Given the description of an element on the screen output the (x, y) to click on. 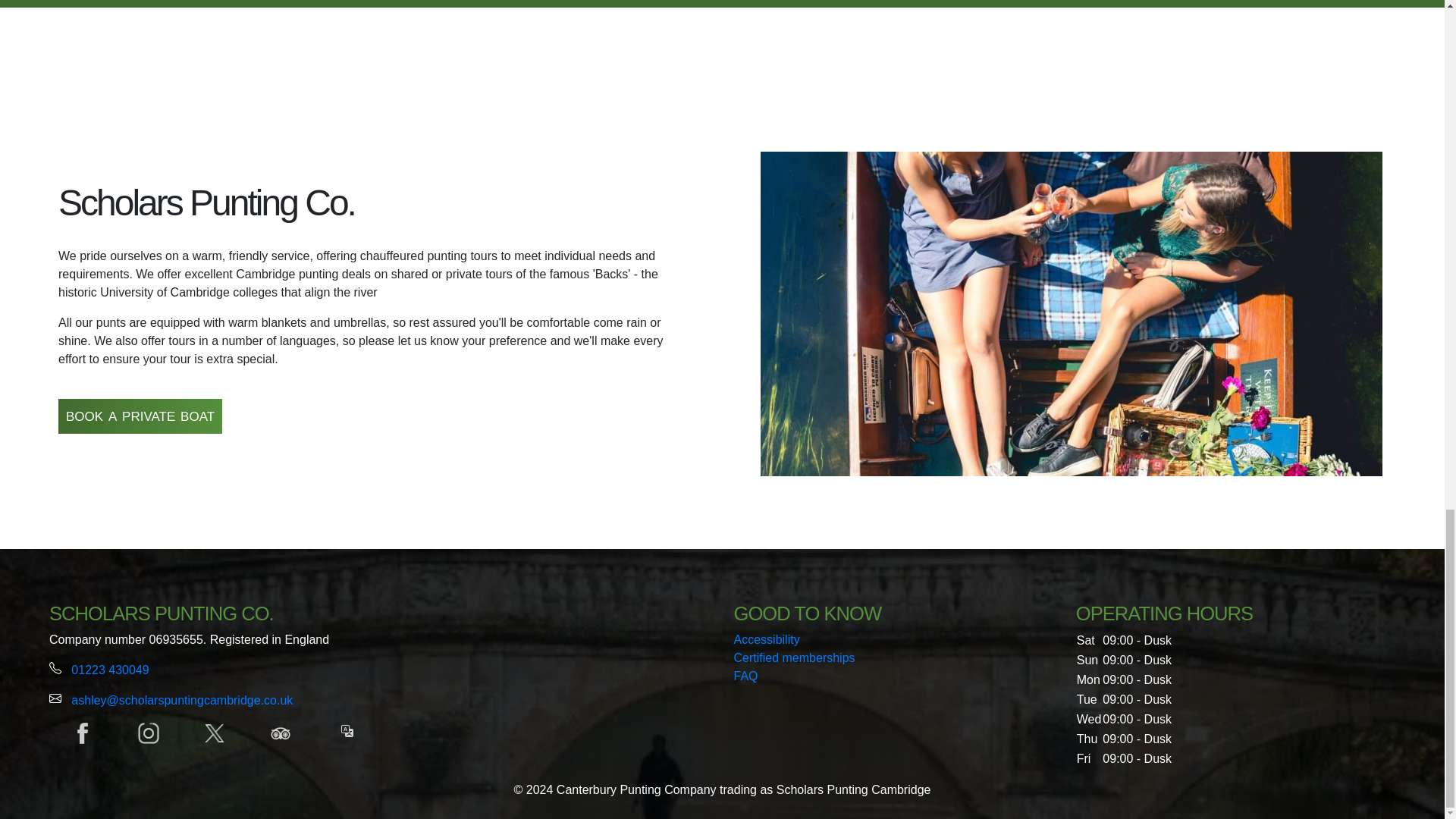
01223 430049 (109, 669)
FAQ (745, 675)
Certified memberships (794, 657)
Accessibility (766, 639)
book a private boat (140, 416)
